Given the description of an element on the screen output the (x, y) to click on. 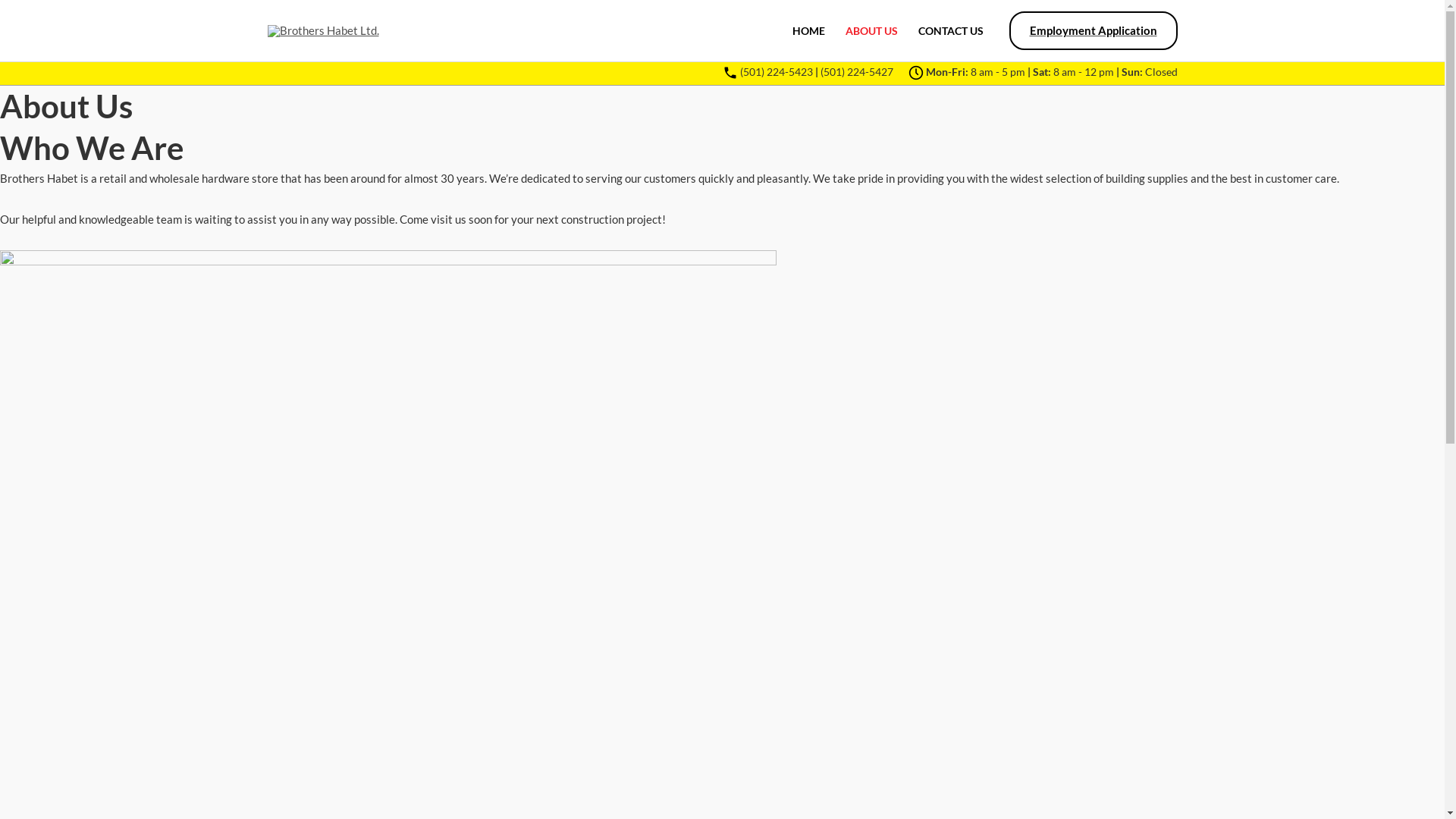
Employment Application Element type: text (1092, 30)
CONTACT US Element type: text (951, 31)
HOME Element type: text (808, 31)
ABOUT US Element type: text (871, 31)
